Given the description of an element on the screen output the (x, y) to click on. 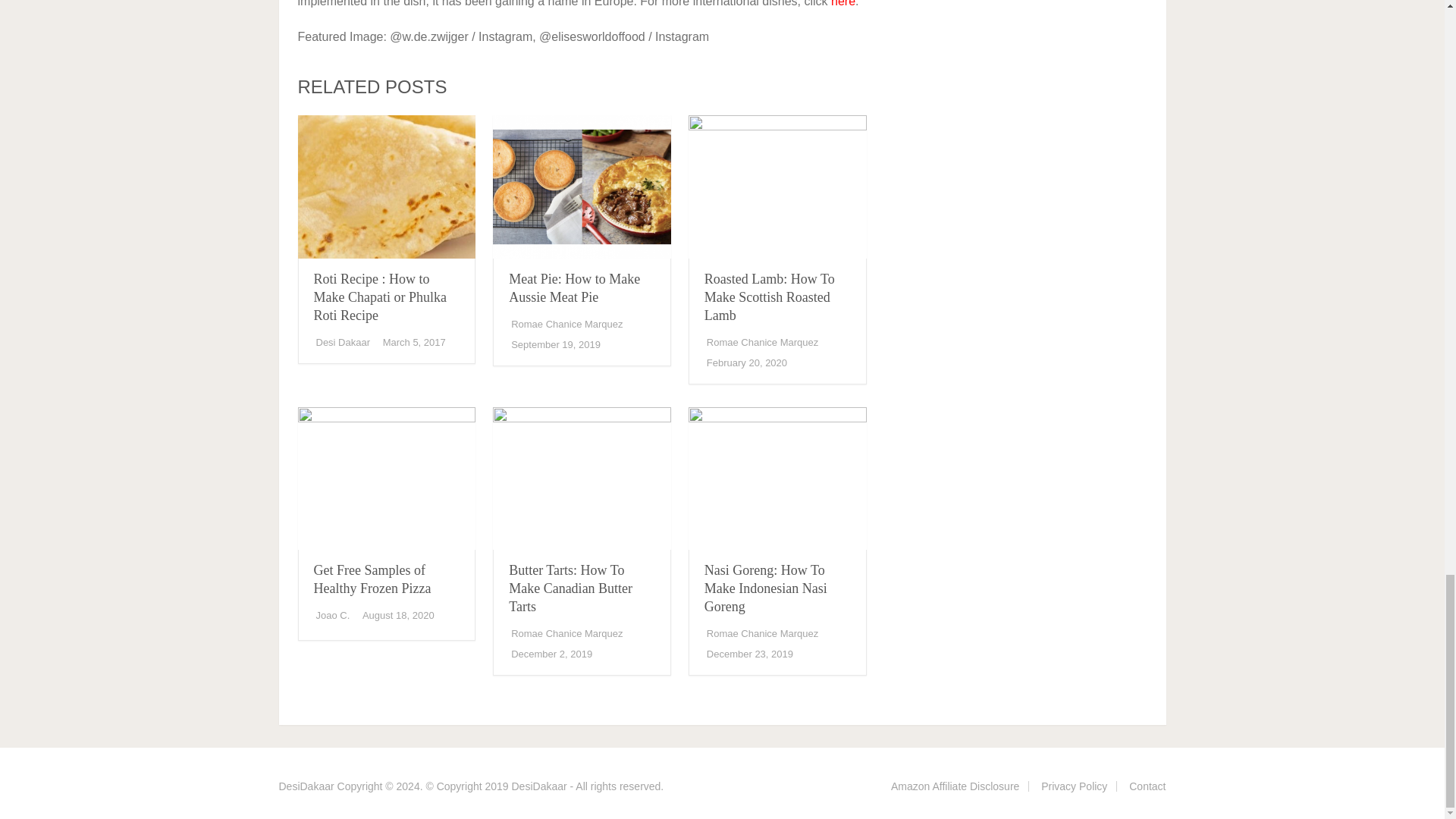
Romae Chanice Marquez (762, 342)
Posts by Romae Chanice Marquez (567, 324)
Get Free Samples of Healthy Frozen Pizza (386, 478)
Roti Recipe : How to Make Chapati or Phulka Roti Recipe (380, 296)
Roasted Lamb: How To Make Scottish Roasted Lamb (769, 296)
Meat Pie: How to Make Aussie Meat Pie (582, 186)
Posts by Romae Chanice Marquez (762, 342)
Butter Tarts: How To Make Canadian Butter Tarts (569, 588)
Meat Pie: How to Make Aussie Meat Pie (574, 287)
Desi Dakaar (342, 342)
